Given the description of an element on the screen output the (x, y) to click on. 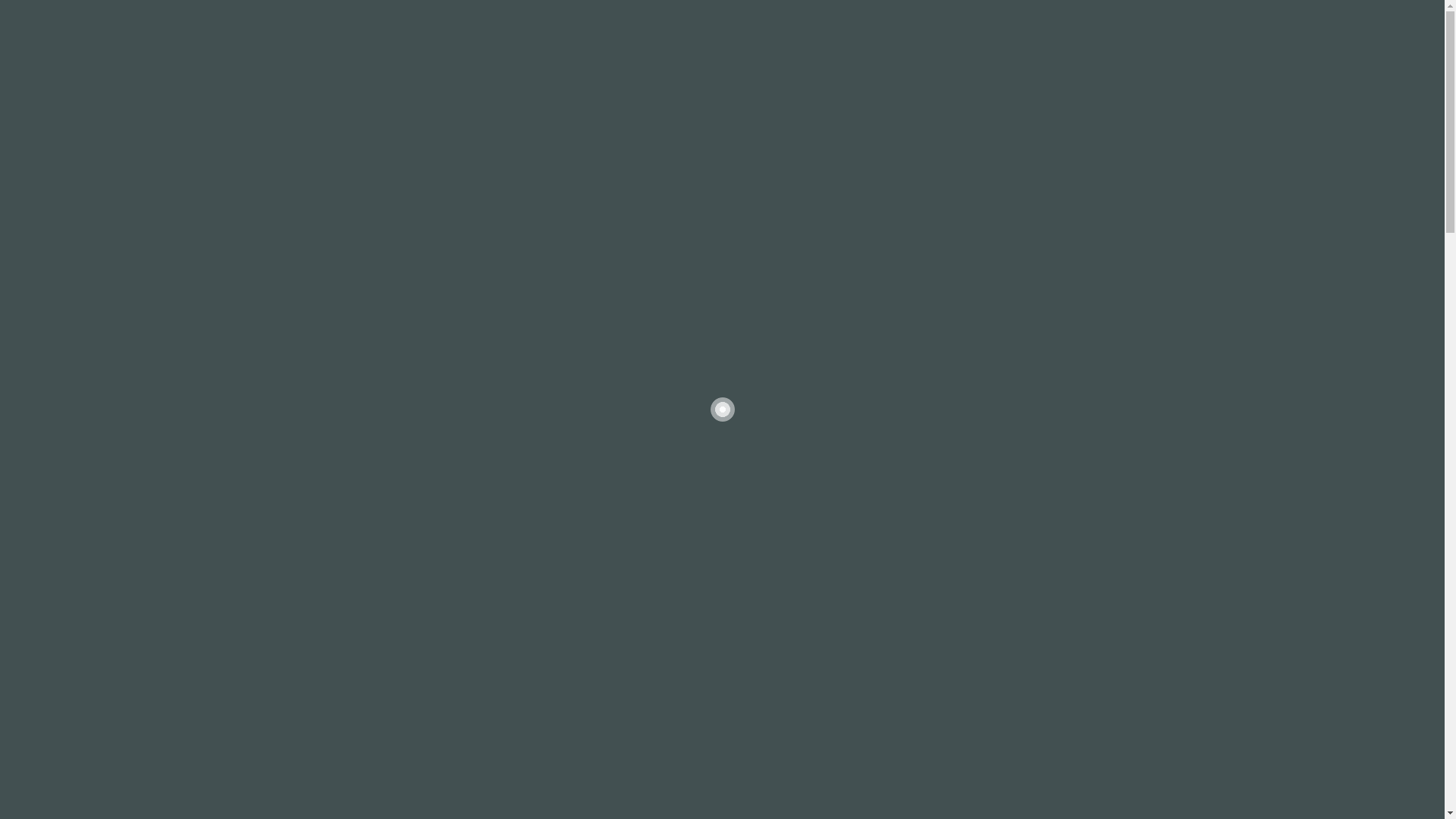
TEACHINGS Element type: text (838, 64)
HOME Element type: text (613, 64)
Online Giving Element type: text (1115, 14)
ABOUT US Element type: text (674, 64)
CONTACT US Element type: text (1062, 64)
TESTIMONIES Element type: text (920, 64)
EVENTS Element type: text (991, 64)
LOG IN Element type: text (1131, 64)
Facebook Element type: text (323, 14)
Youtube Element type: text (390, 14)
Calender Element type: text (1040, 14)
LIVE SERVICES Element type: text (754, 64)
